Given the description of an element on the screen output the (x, y) to click on. 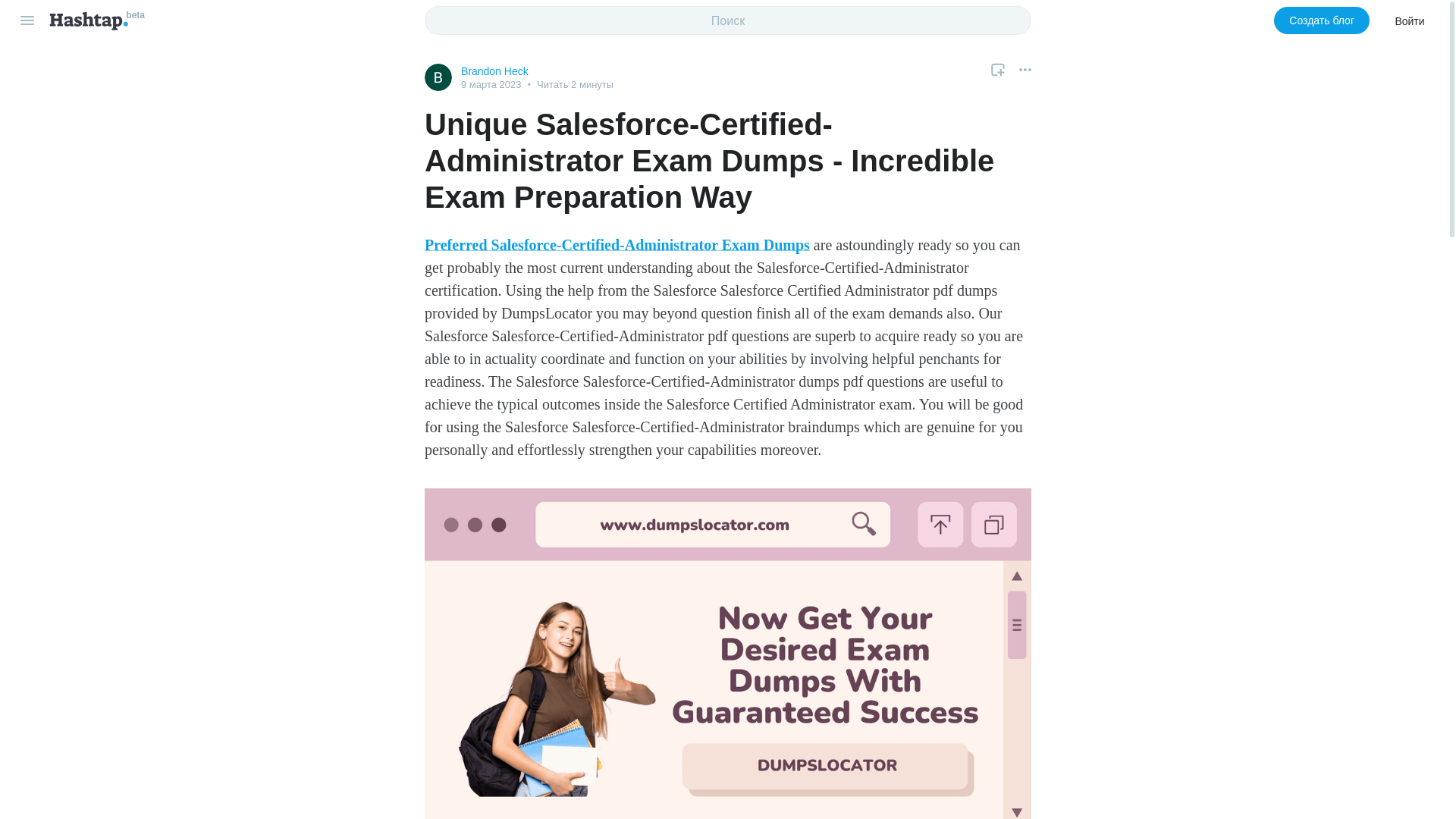
Brandon Heck (494, 70)
B (438, 76)
Preferred Salesforce-Certified-Administrator Exam Dumps (617, 244)
